Given the description of an element on the screen output the (x, y) to click on. 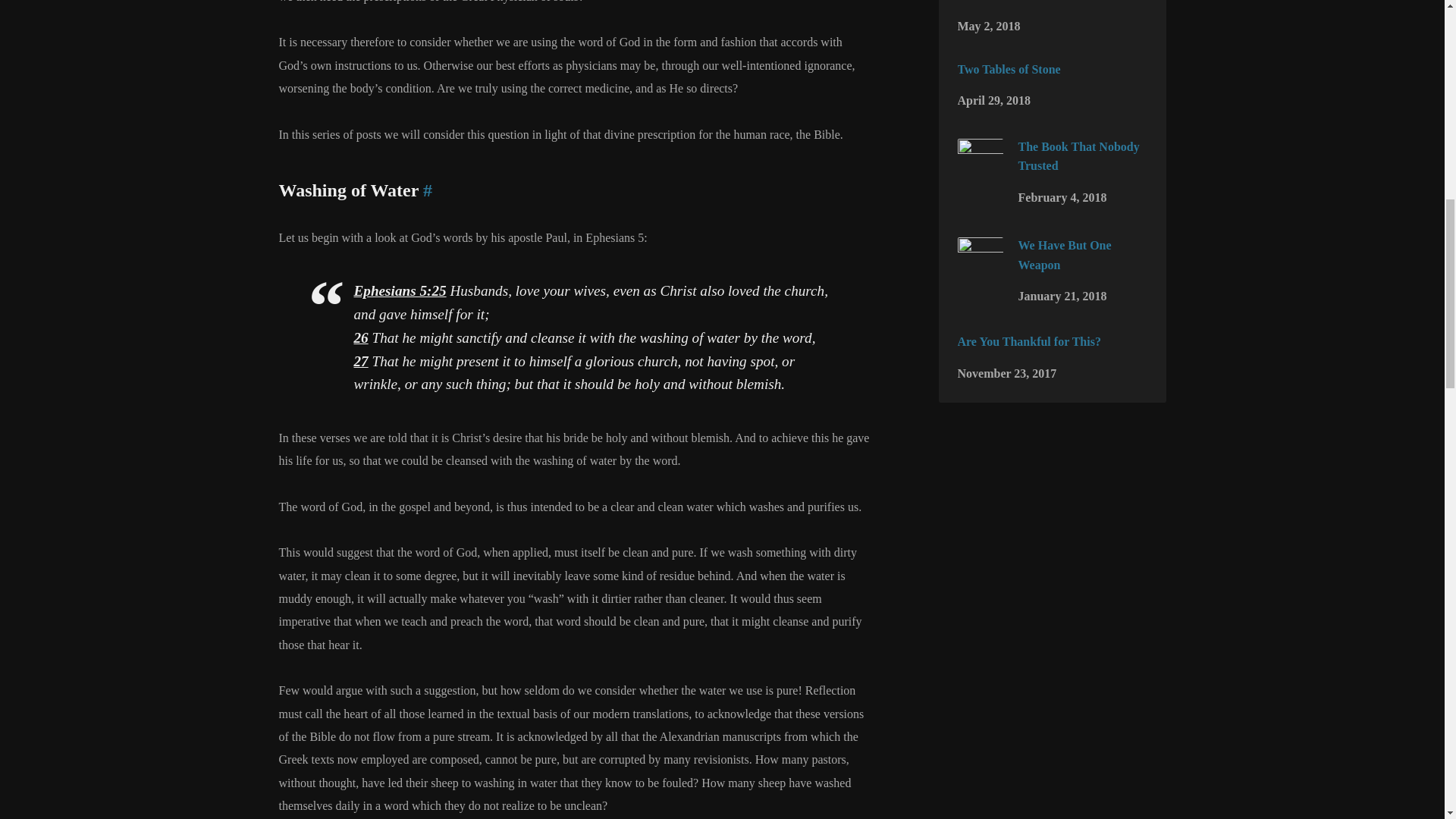
Are You Thankful for This? (1028, 341)
The Book That Nobody Trusted (979, 173)
We Have But One Weapon (979, 272)
We Have But One Weapon (1063, 255)
The Book That Nobody Trusted (1077, 156)
Two Tables of Stone (1007, 69)
Two Tables of Stone (1007, 69)
